Given the description of an element on the screen output the (x, y) to click on. 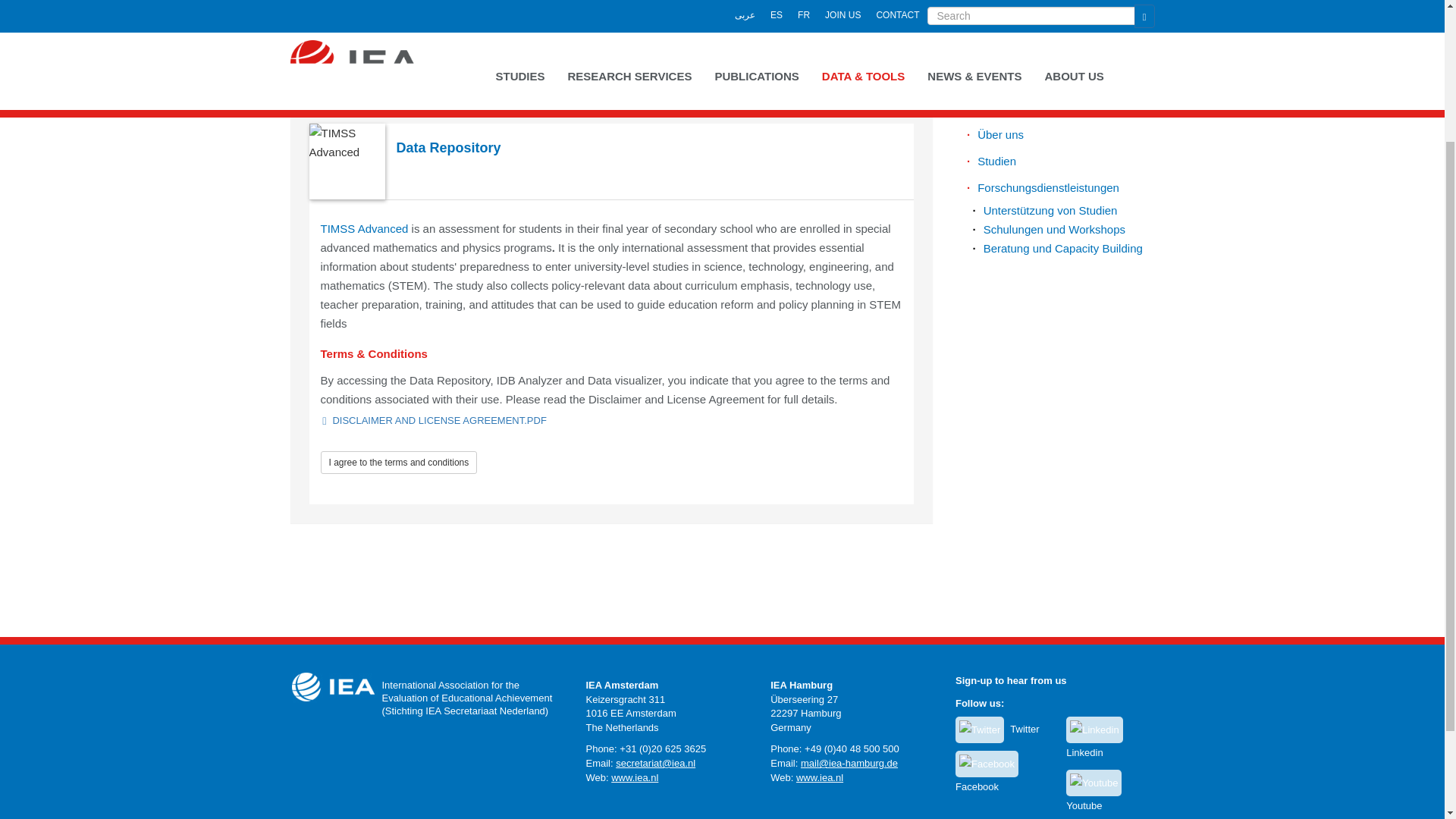
Open file in new window (438, 419)
